Given the description of an element on the screen output the (x, y) to click on. 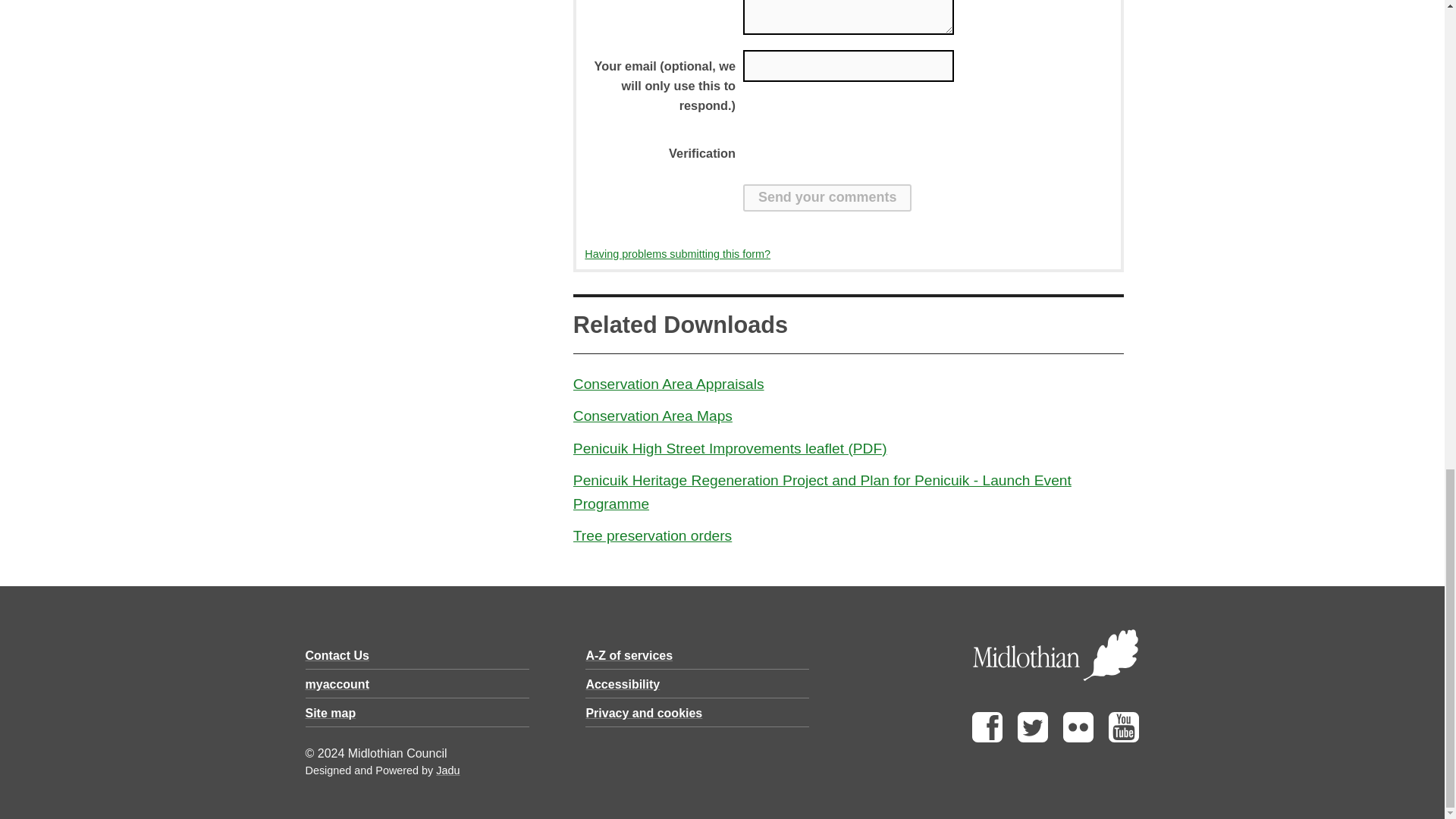
Send your comments (826, 197)
Send your comments (826, 197)
Conservation Area Appraisals (668, 383)
Conservation Area Maps (652, 415)
Facebook (987, 738)
A-Z of services (628, 655)
myaccount (336, 684)
Maps showing the boundaries of various Conservation Areas. (652, 415)
Site map (329, 712)
Accessibility (622, 684)
Youtube (1123, 738)
Twitter (1032, 738)
Tree preservation orders (652, 535)
Jadu (447, 770)
